Given the description of an element on the screen output the (x, y) to click on. 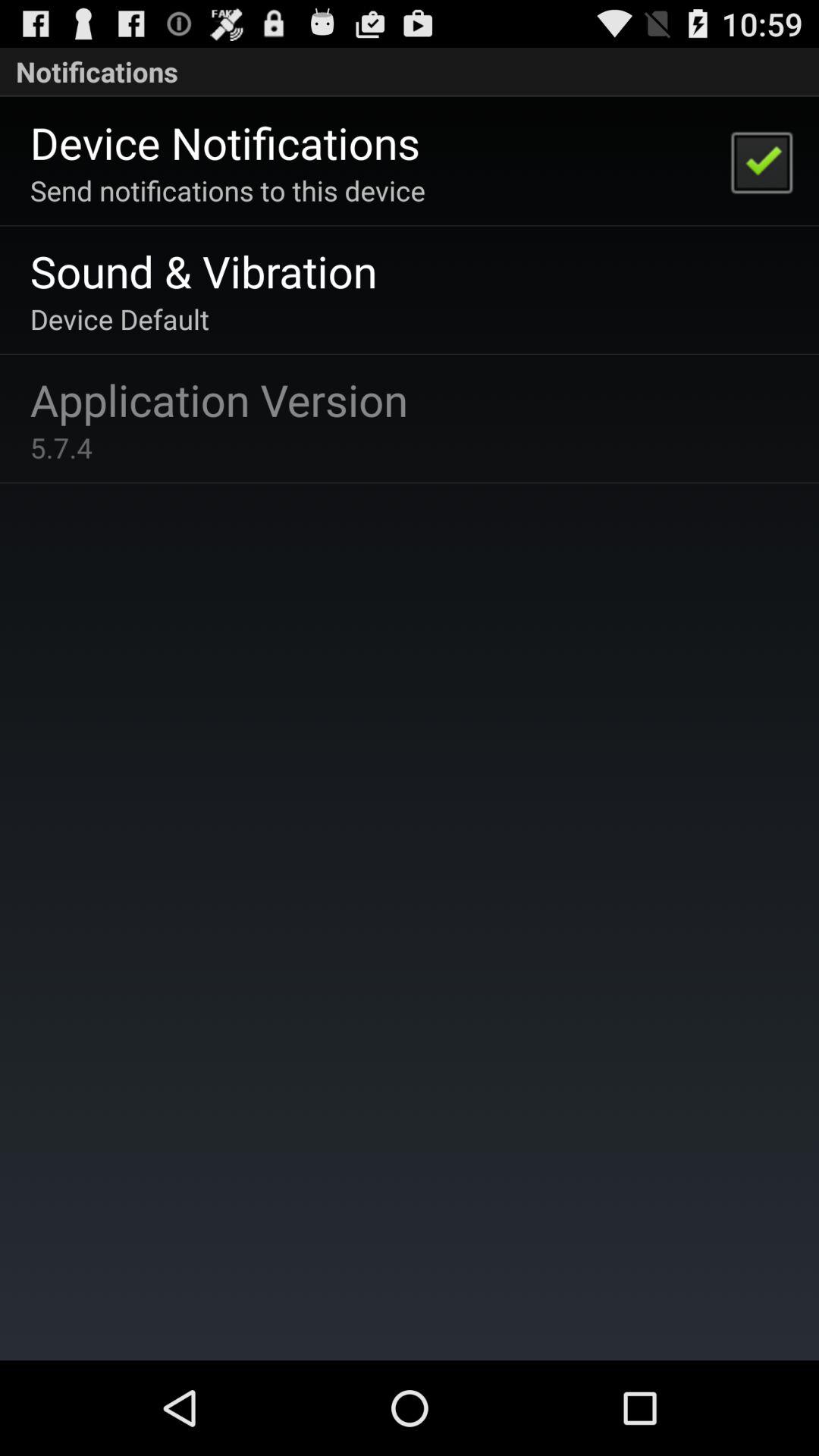
choose the item above the sound & vibration (227, 190)
